Given the description of an element on the screen output the (x, y) to click on. 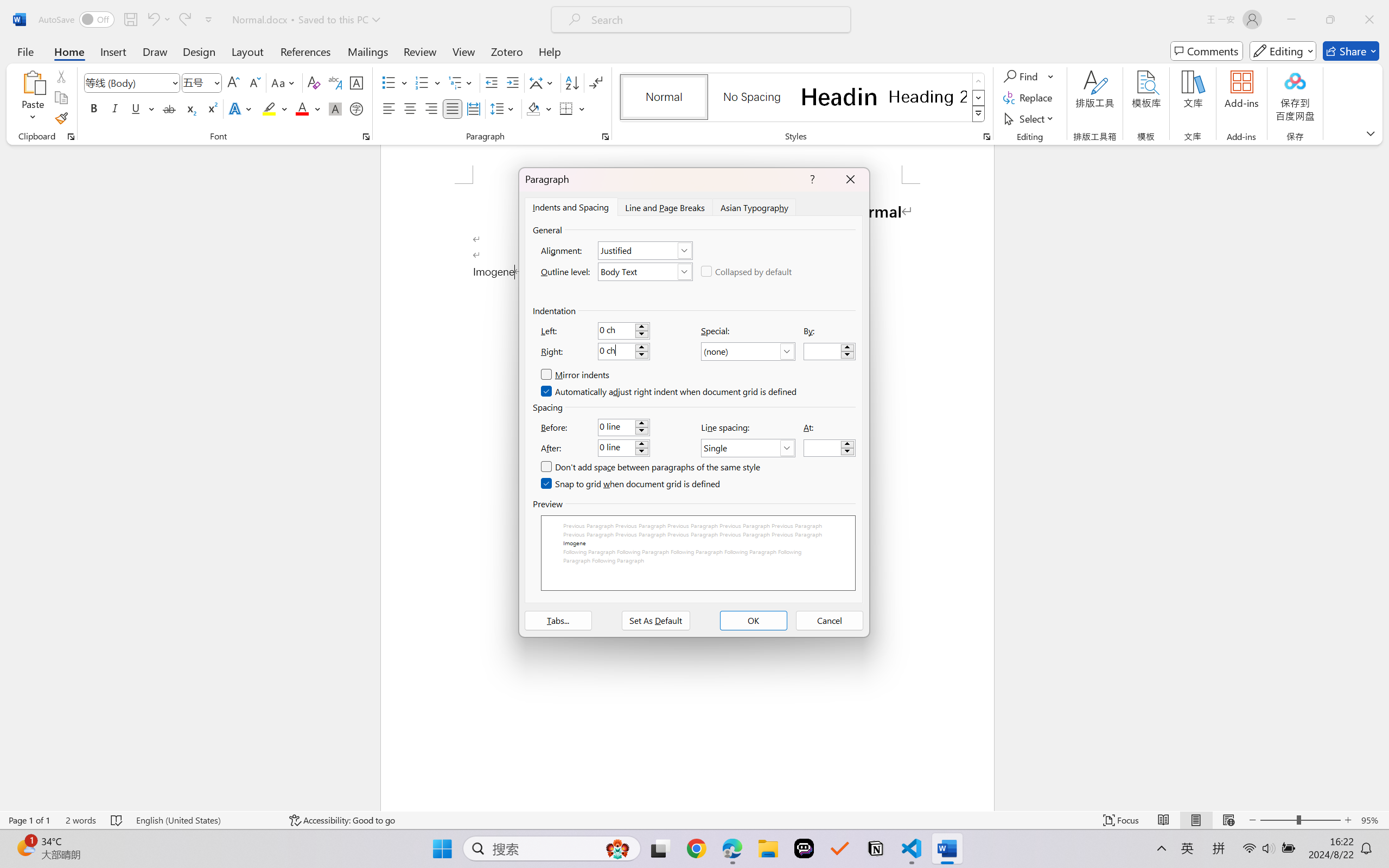
Set As Default (655, 620)
Outline level: (645, 271)
Undo Typing (158, 19)
Line and Page Breaks (664, 206)
Asian Layout (542, 82)
Show/Hide Editing Marks (595, 82)
Center (409, 108)
After: (623, 447)
Redo Style (184, 19)
